Given the description of an element on the screen output the (x, y) to click on. 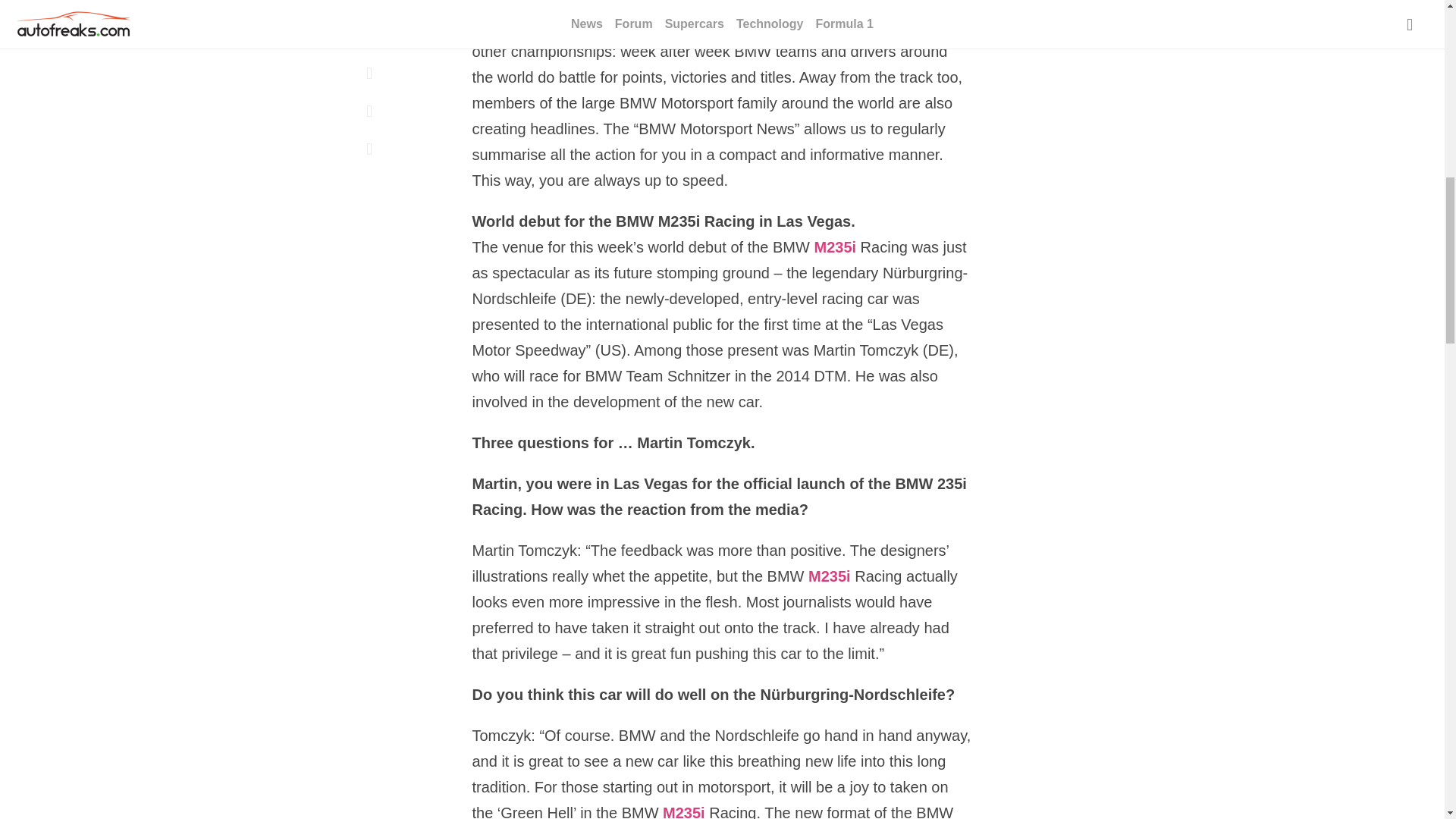
M235i (834, 248)
M235i (829, 577)
M235i (683, 811)
